Given the description of an element on the screen output the (x, y) to click on. 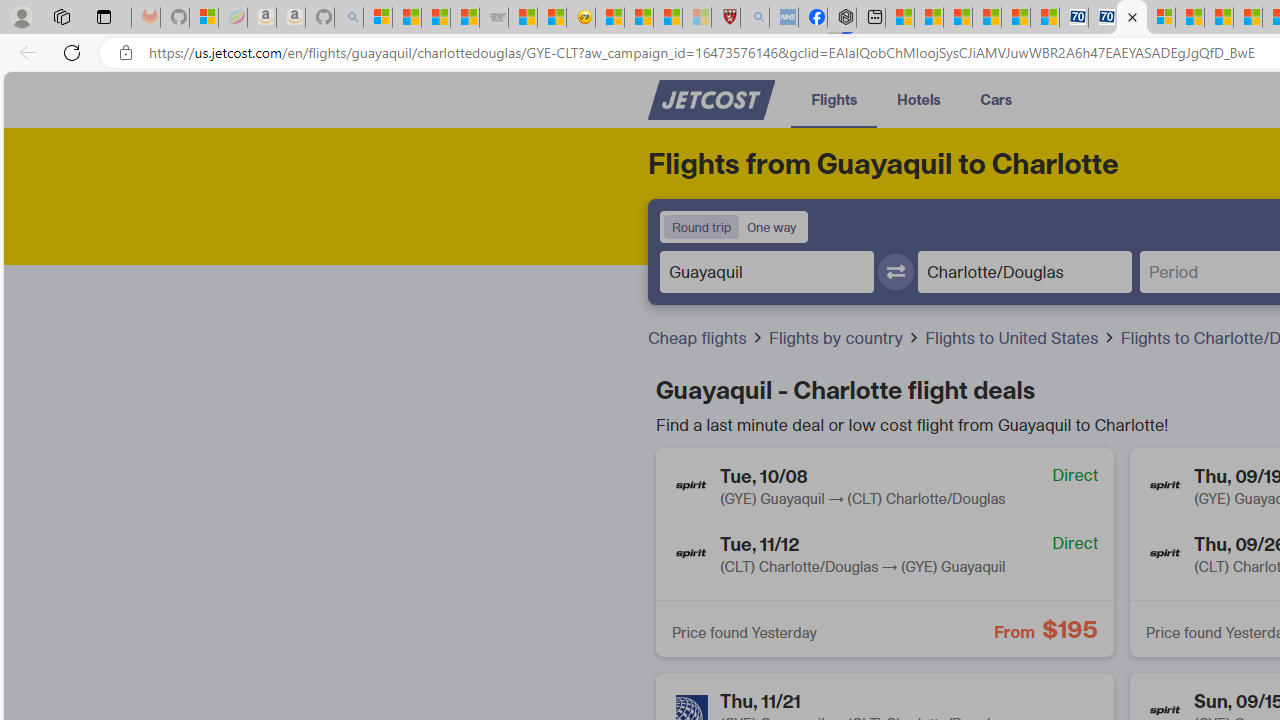
Cheap flights (699, 337)
Departure place (767, 271)
Flights to United States (1021, 337)
Flights to United States (1014, 337)
